Given the description of an element on the screen output the (x, y) to click on. 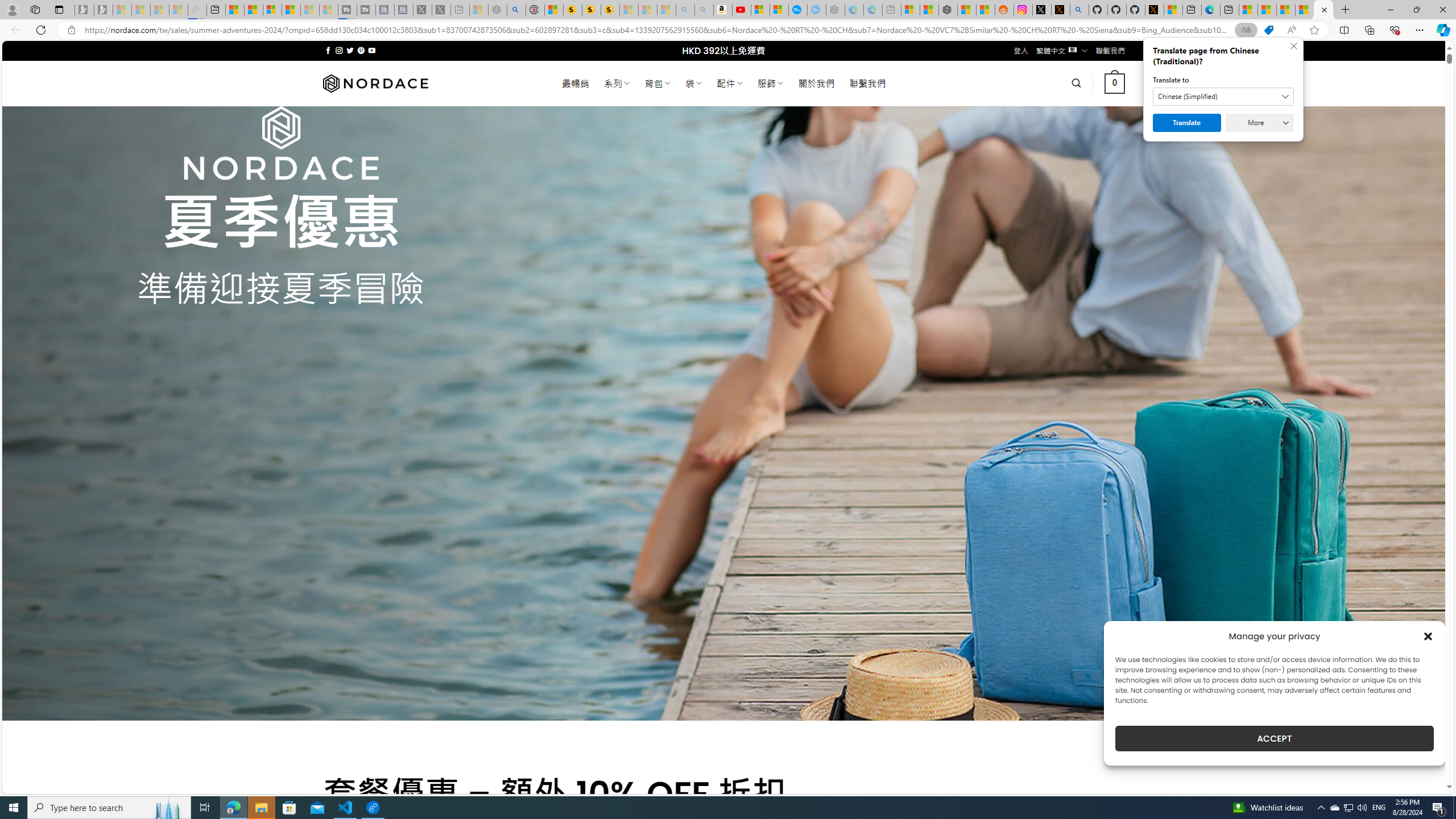
The most popular Google 'how to' searches - Sleeping (816, 9)
Follow on YouTube (371, 50)
Overview (271, 9)
Shanghai, China Weather trends | Microsoft Weather (985, 9)
Close (1442, 9)
MSNBC - MSN (1267, 9)
Translate (1187, 122)
